Given the description of an element on the screen output the (x, y) to click on. 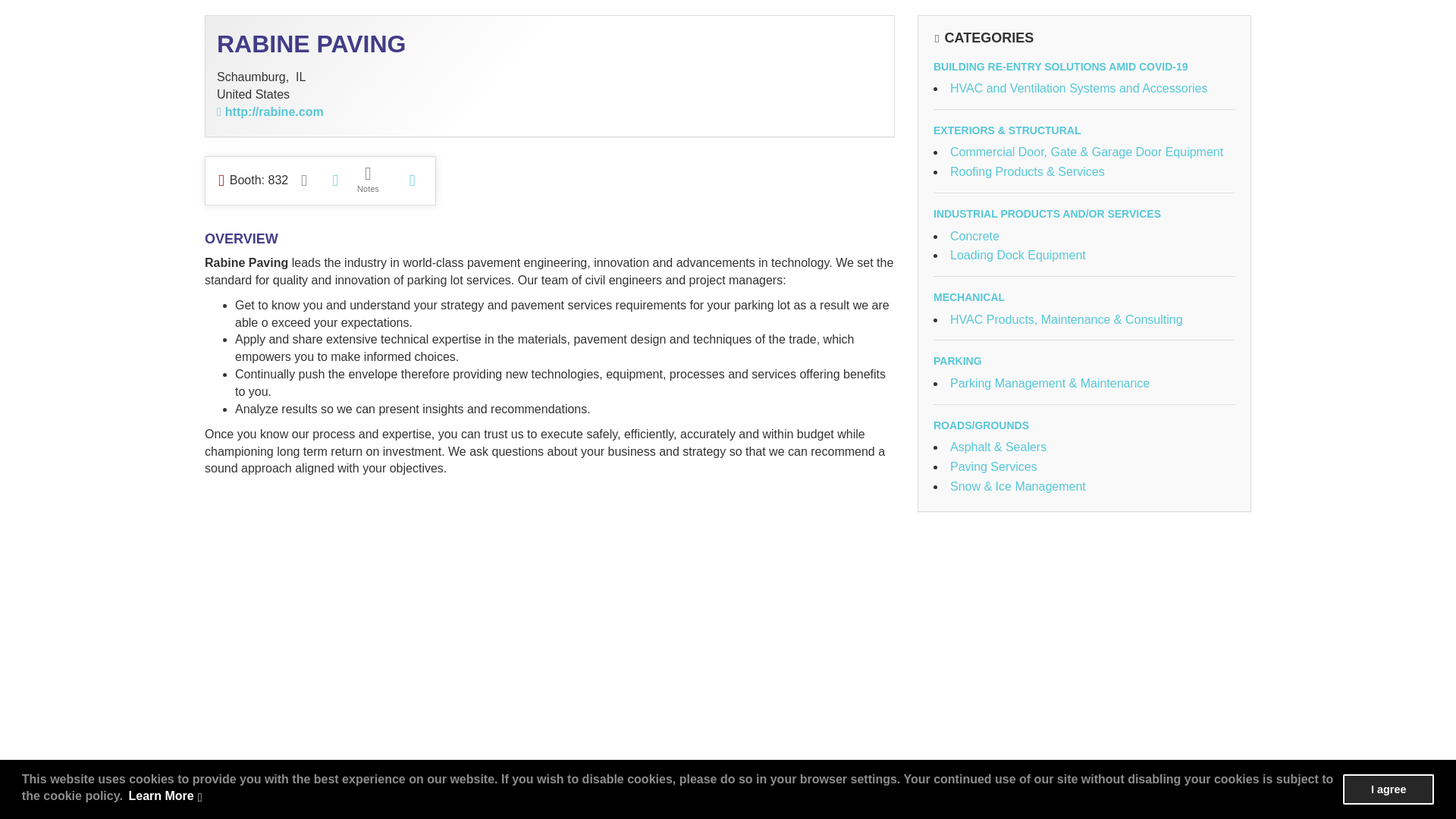
BUILDING RE-ENTRY SOLUTIONS AMID COVID-19 (1060, 66)
Concrete (974, 235)
PARKING (957, 360)
Request Appointment (303, 179)
Loading Dock Equipment (1018, 254)
Paving Services (993, 466)
Log in to add notes (367, 179)
Print (335, 179)
HVAC and Ventilation Systems and Accessories (1078, 88)
Add To My Exhibitors (411, 180)
MECHANICAL (968, 297)
